Given the description of an element on the screen output the (x, y) to click on. 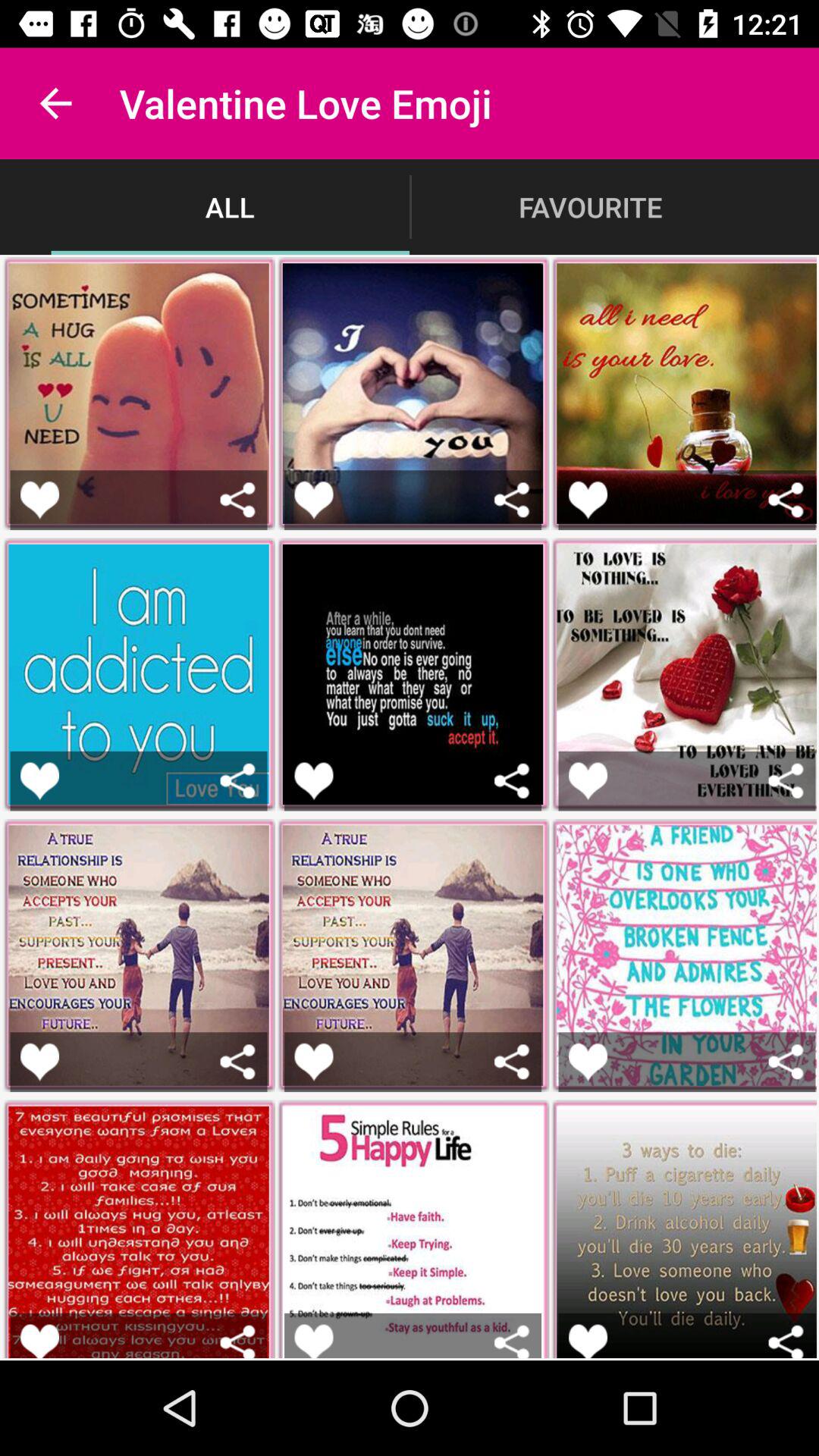
like button (587, 499)
